Given the description of an element on the screen output the (x, y) to click on. 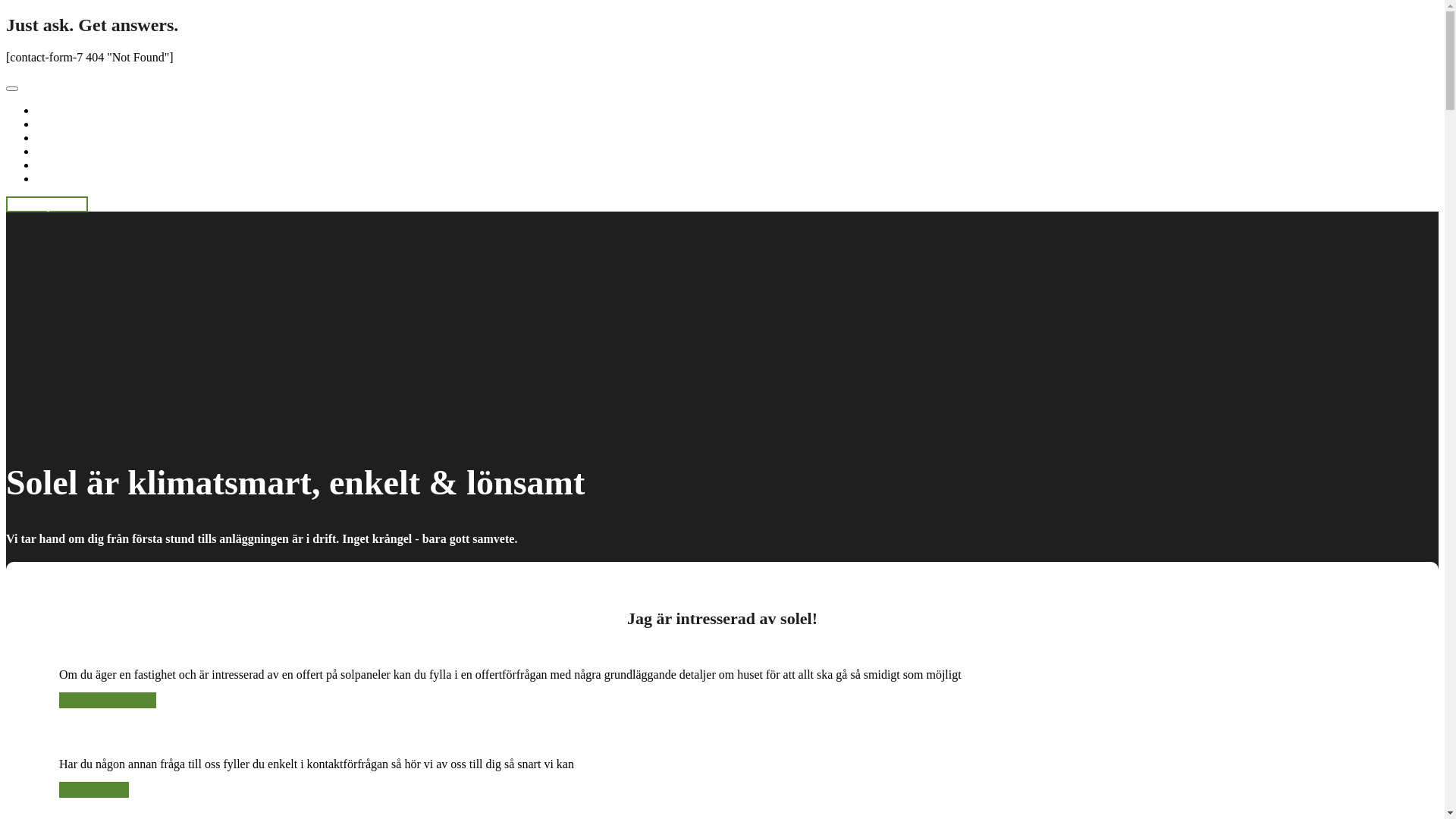
Solel Element type: text (48, 123)
Jobba hos oss Element type: text (69, 178)
Kontakta mig Element type: text (93, 789)
Jag vill ha en offert Element type: text (107, 700)
Kunder Element type: text (54, 164)
Hem Element type: text (47, 109)
